Given the description of an element on the screen output the (x, y) to click on. 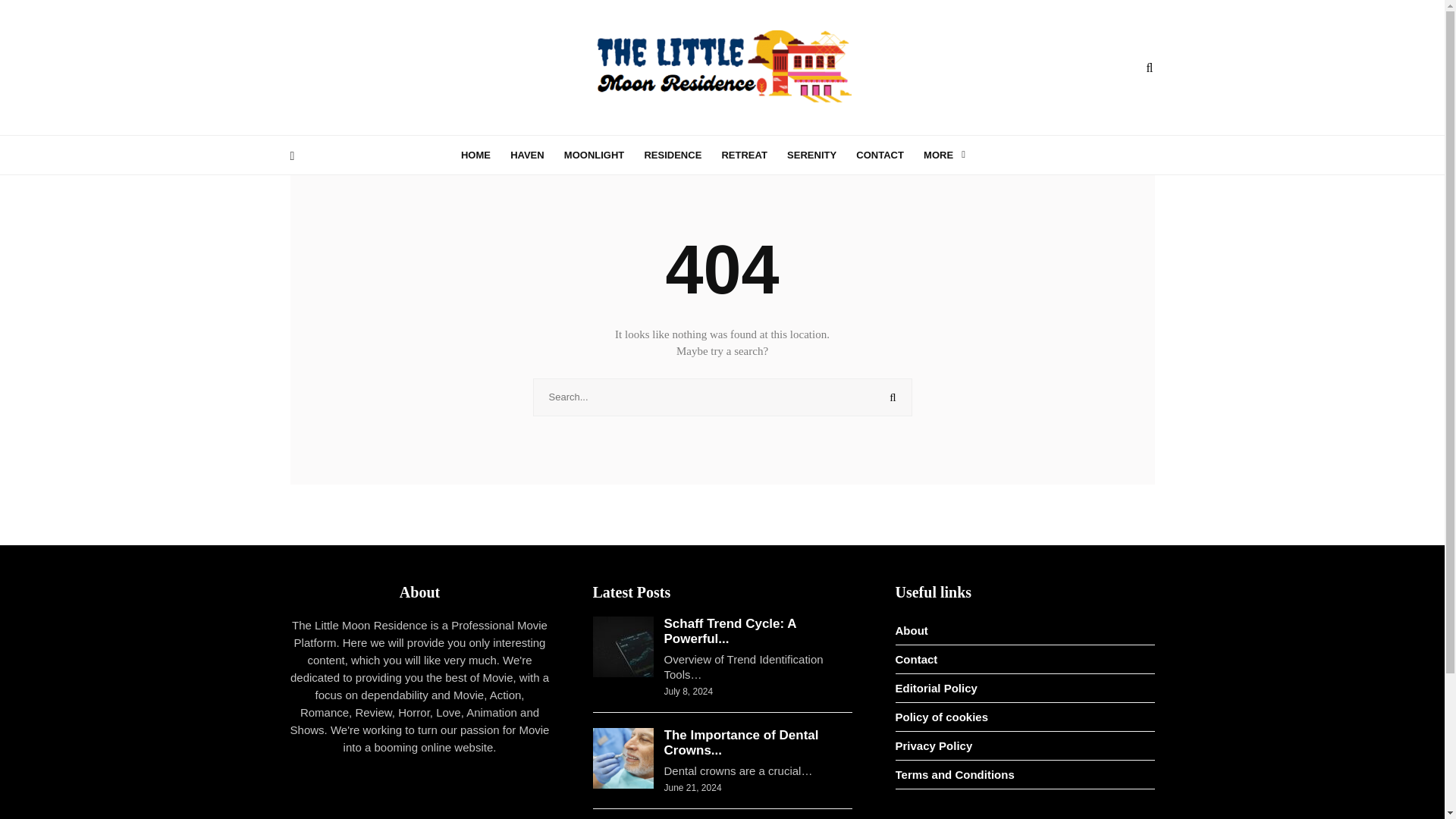
MORE (949, 153)
HAVEN (535, 153)
SERENITY (820, 153)
MOONLIGHT (602, 153)
RETREAT (751, 153)
CONTACT (888, 153)
RESIDENCE (680, 153)
HOME (483, 153)
